Given the description of an element on the screen output the (x, y) to click on. 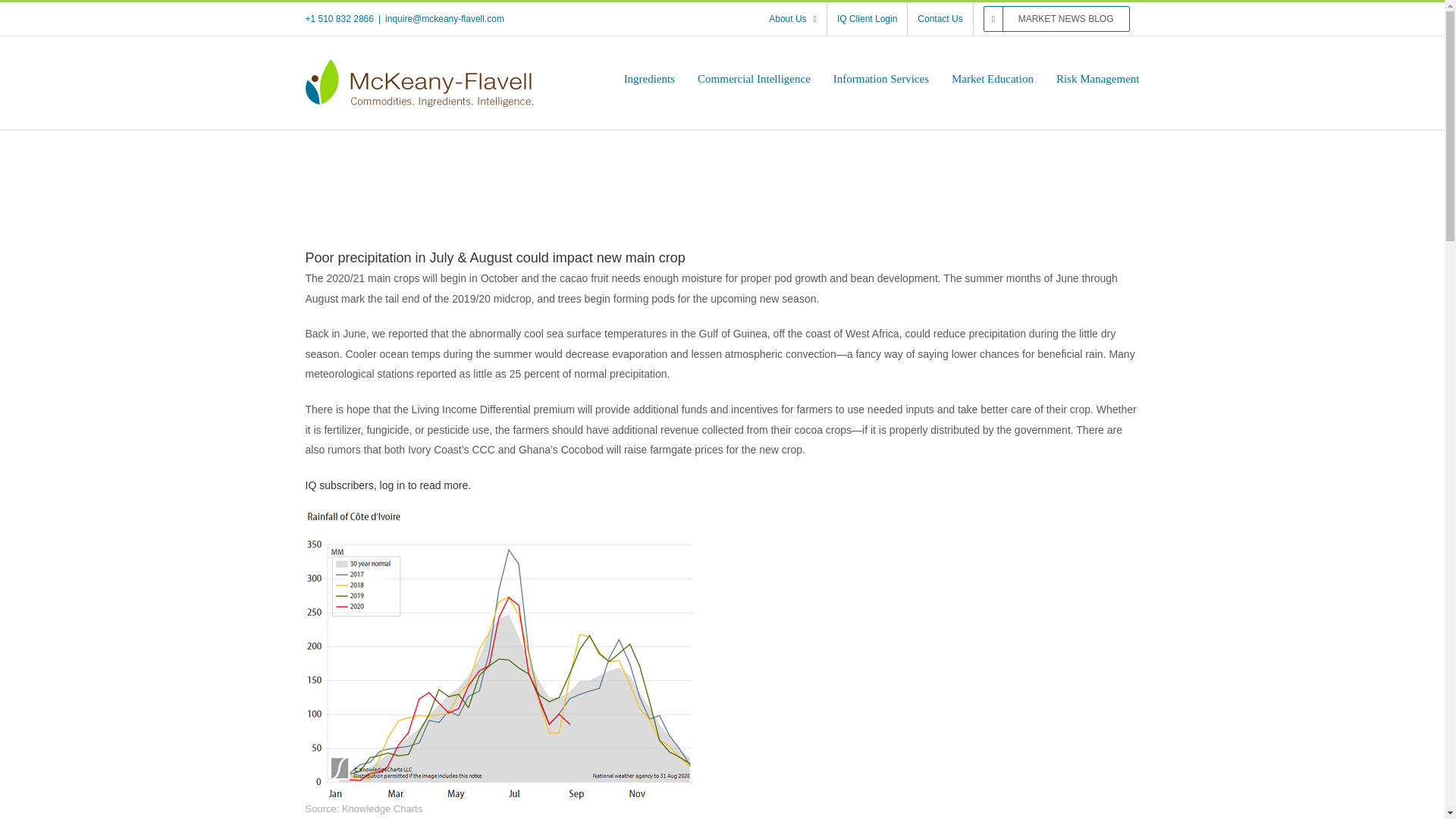
MARKET NEWS BLOG (1057, 19)
Information Services (880, 79)
About Us (792, 19)
Risk Management (1098, 79)
IQ Client Login (867, 19)
Contact Us (939, 19)
IQ subscribers, log in to read more. (387, 485)
Commercial Intelligence (753, 79)
Market Education (992, 79)
